Given the description of an element on the screen output the (x, y) to click on. 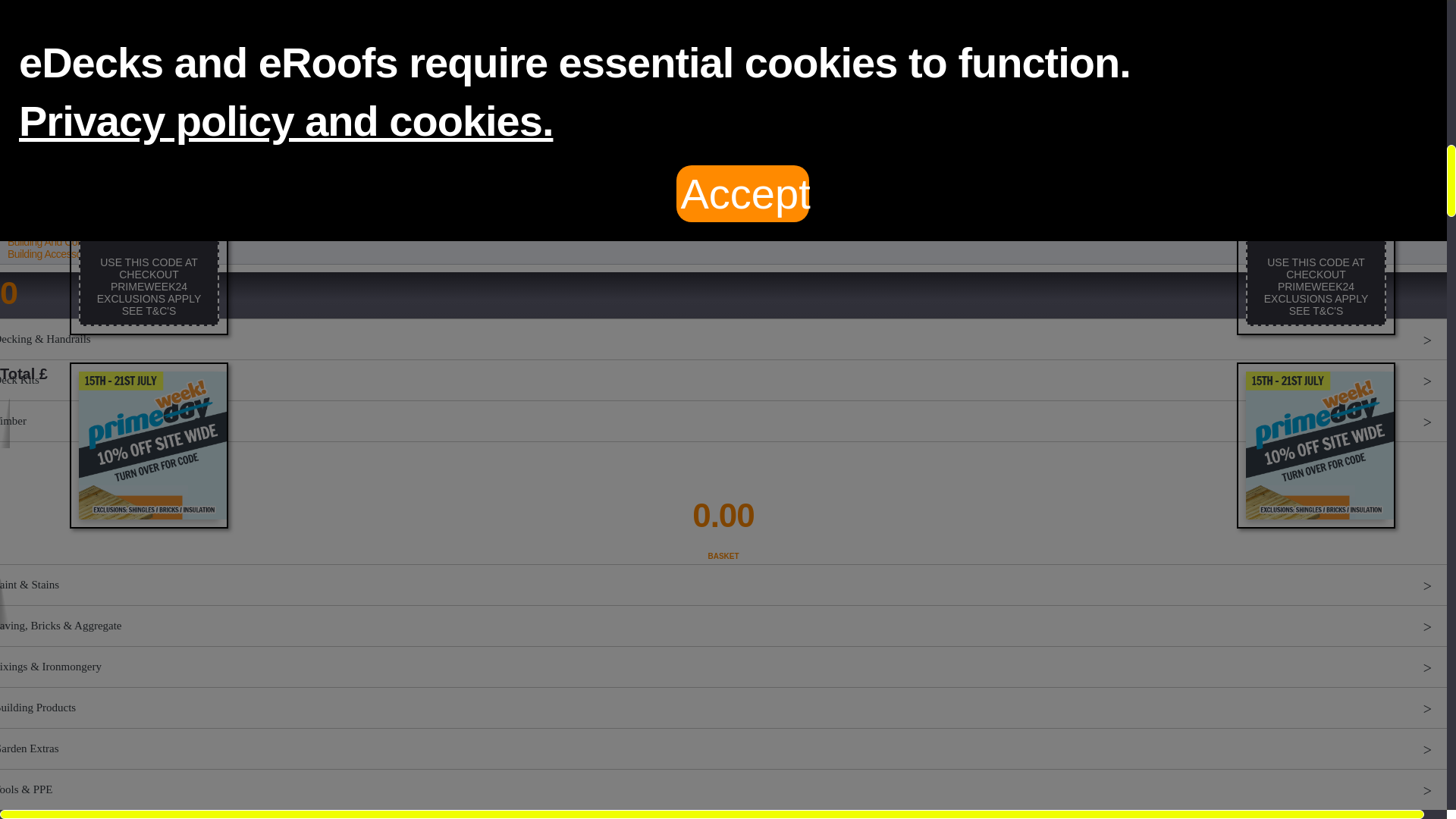
Building And Construction Products (69, 57)
Artificial Grass (83, 241)
Building Accessories (723, 502)
Home (53, 254)
Customer reviews powered by Trustpilot (24, 229)
Timber (75, 182)
Garden Extras (723, 420)
Deck Kits (723, 748)
Garden Buildings (723, 379)
Building Products (723, 461)
